Given the description of an element on the screen output the (x, y) to click on. 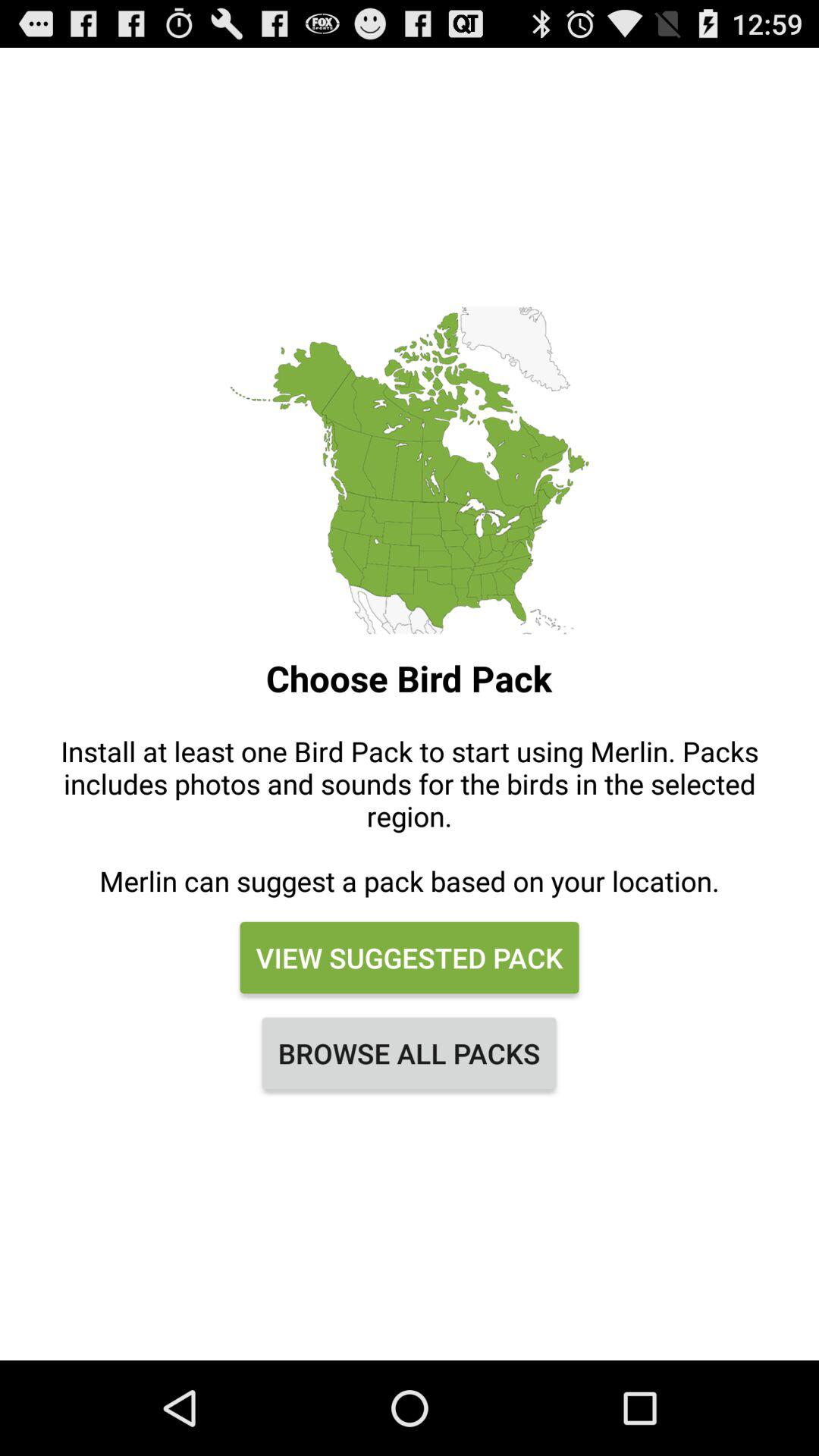
open the view suggested pack (409, 957)
